Given the description of an element on the screen output the (x, y) to click on. 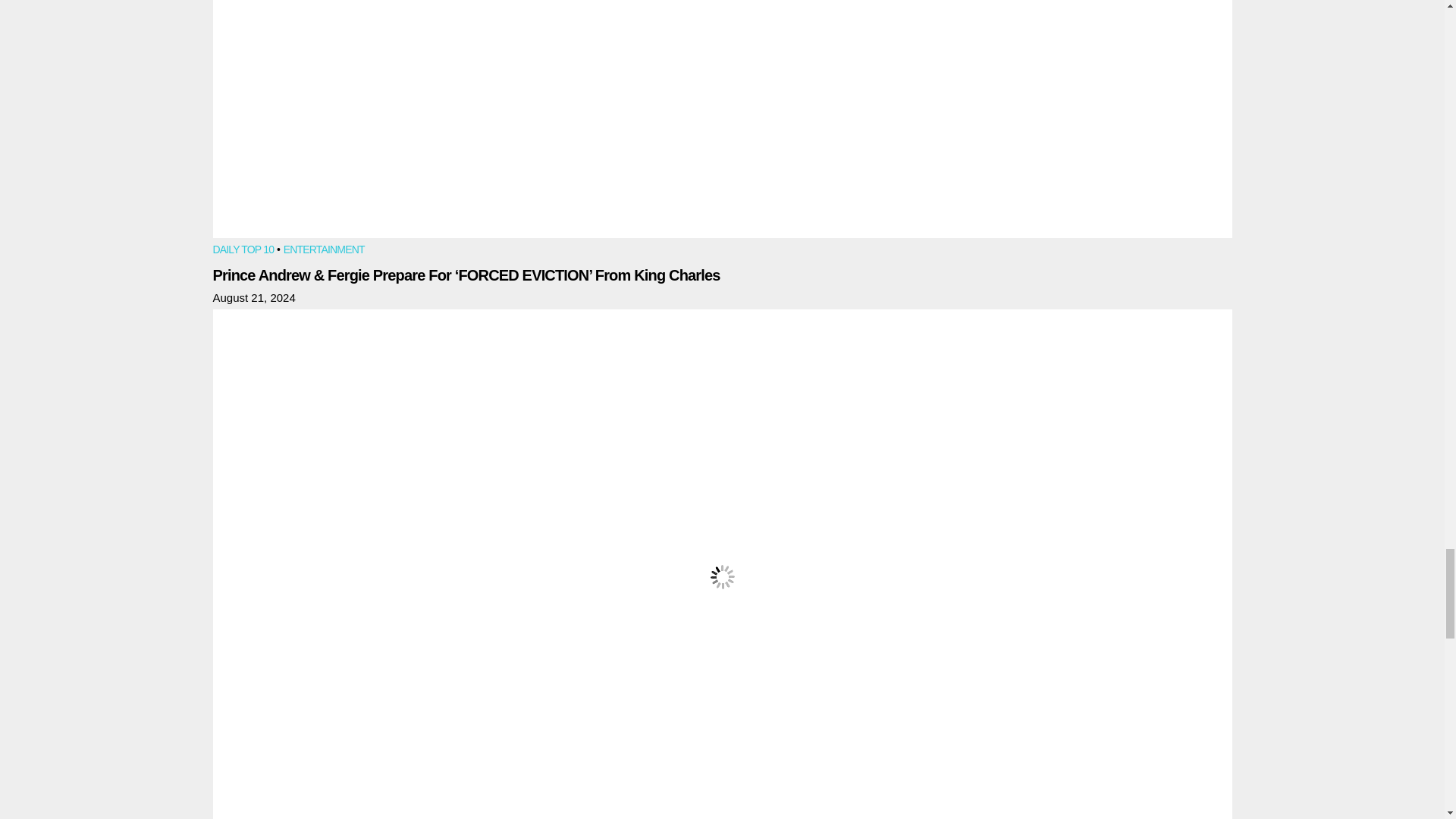
DAILY TOP 10 (242, 250)
ENTERTAINMENT (324, 250)
